Given the description of an element on the screen output the (x, y) to click on. 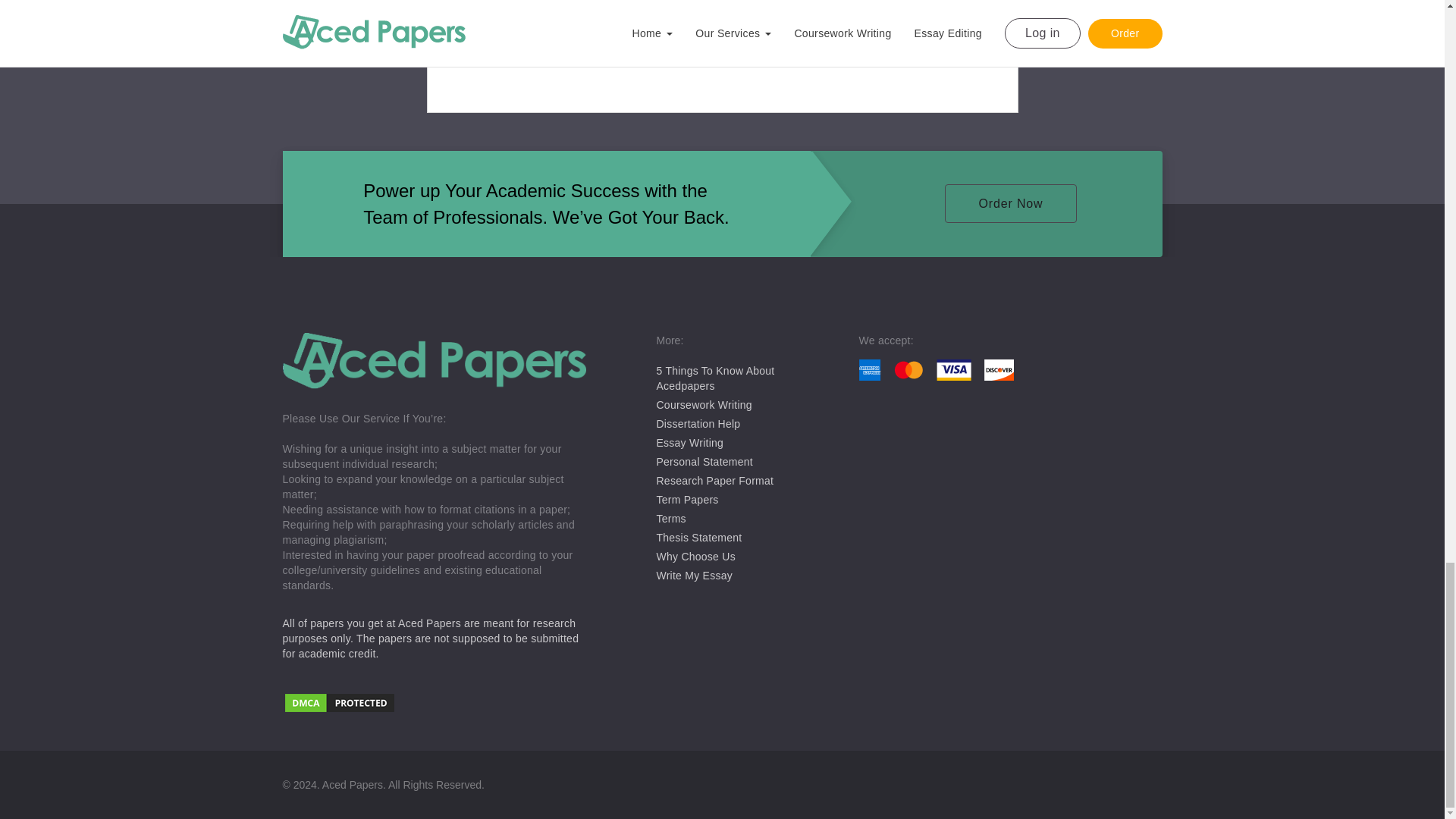
DMCA.com Protection Status (433, 703)
